Given the description of an element on the screen output the (x, y) to click on. 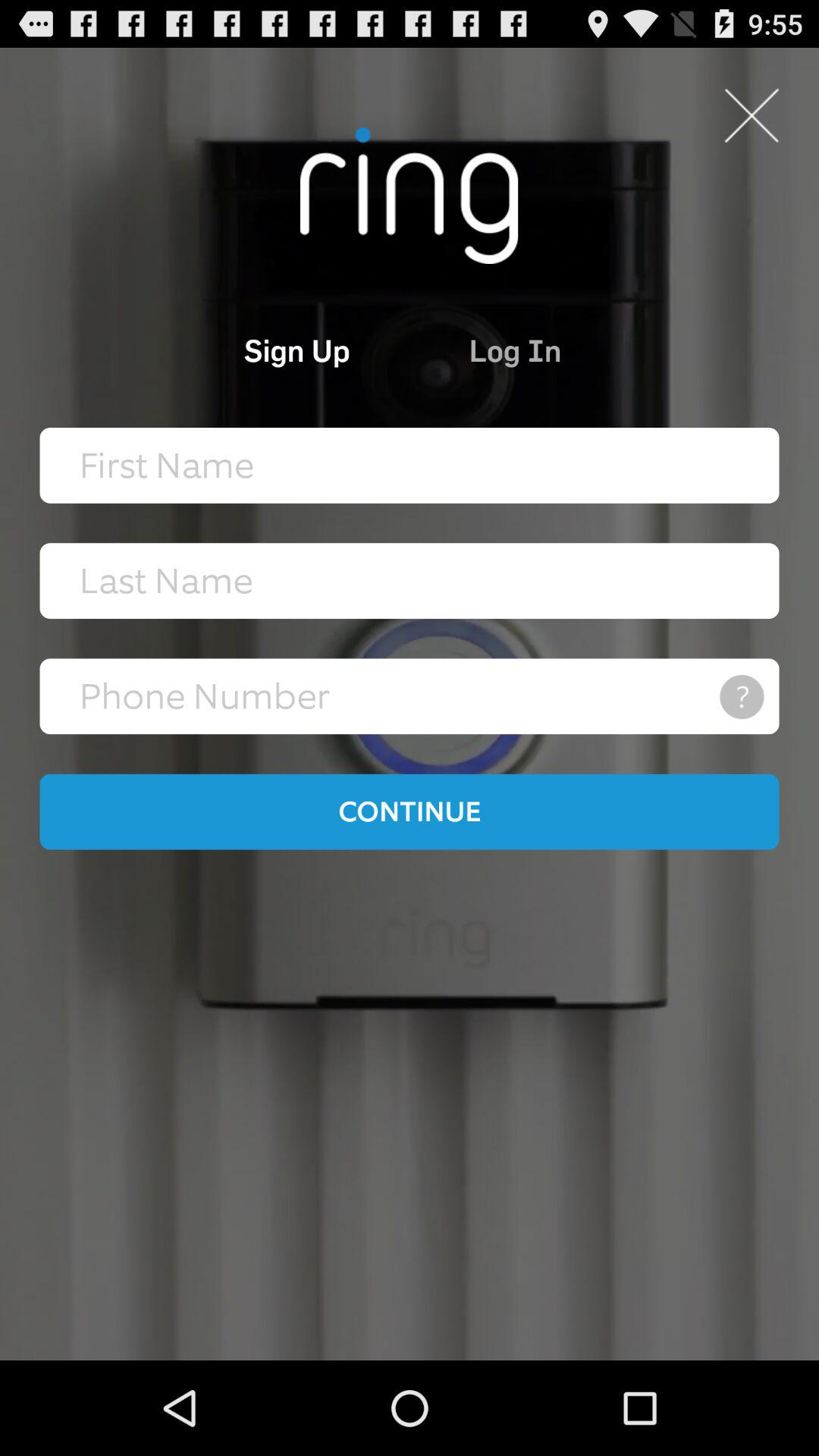
choose the item to the left of log in icon (234, 349)
